Given the description of an element on the screen output the (x, y) to click on. 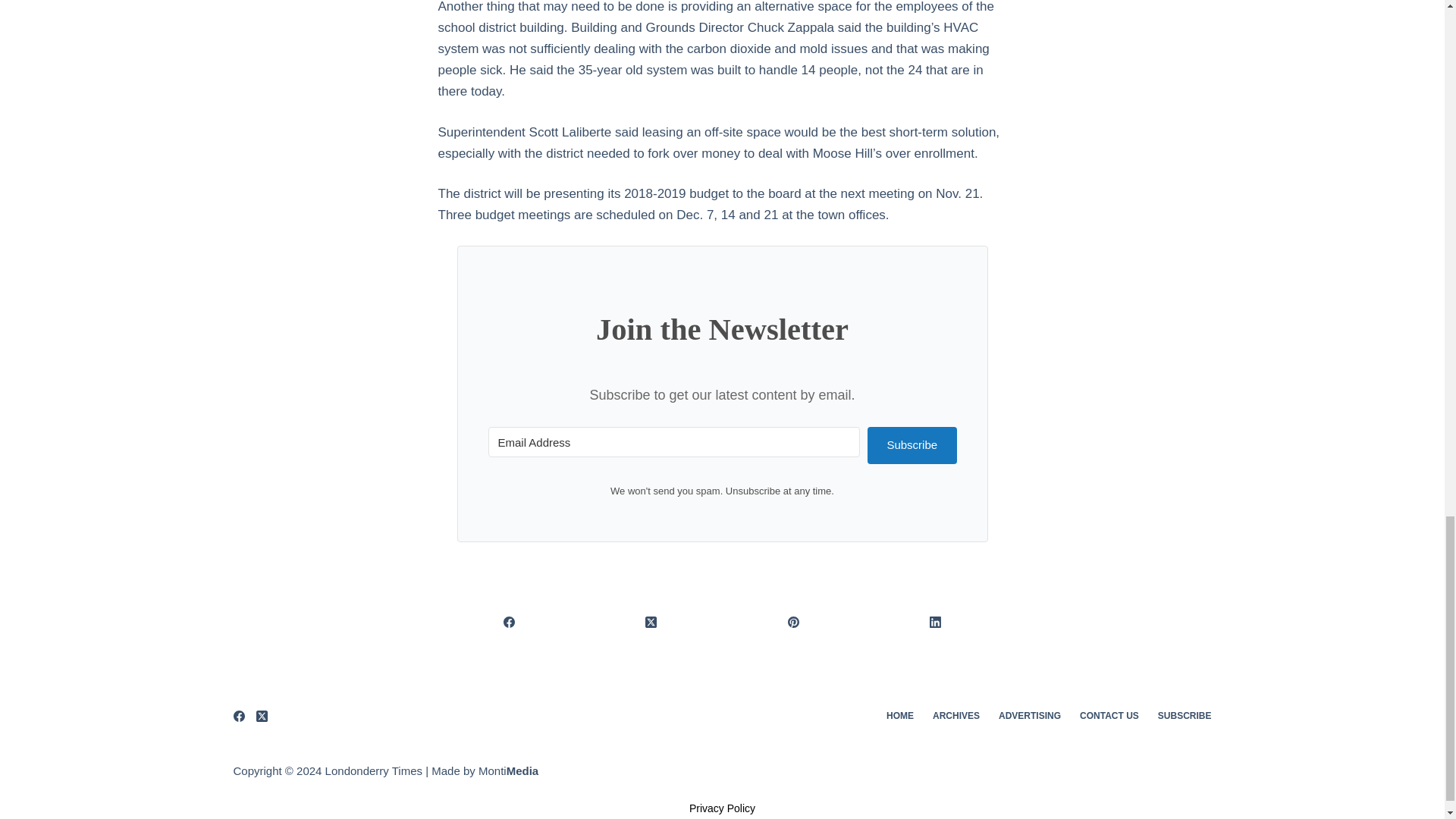
CONTACT US (1109, 716)
Subscribe (911, 445)
ARCHIVES (956, 716)
HOME (899, 716)
ADVERTISING (1030, 716)
